Given the description of an element on the screen output the (x, y) to click on. 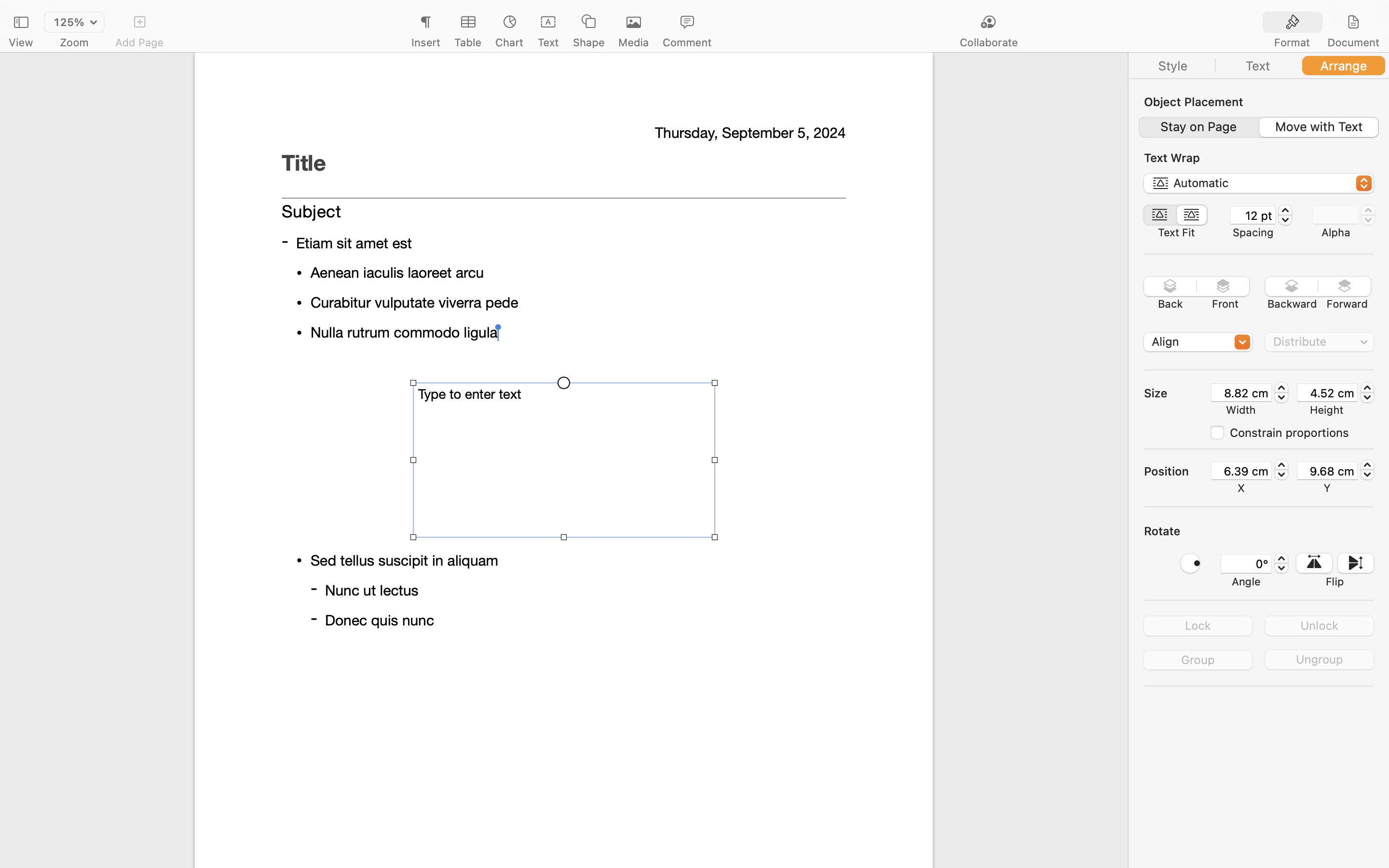
<AXUIElement 0x17d70c6c0> {pid=1482} Element type: AXGroup (1322, 22)
<AXUIElement 0x2a544fe40> {pid=1482} Element type: AXRadioGroup (1176, 214)
Y Element type: AXStaticText (1327, 487)
250.0 Element type: AXIncrementor (1281, 392)
Media Element type: AXStaticText (633, 42)
